Given the description of an element on the screen output the (x, y) to click on. 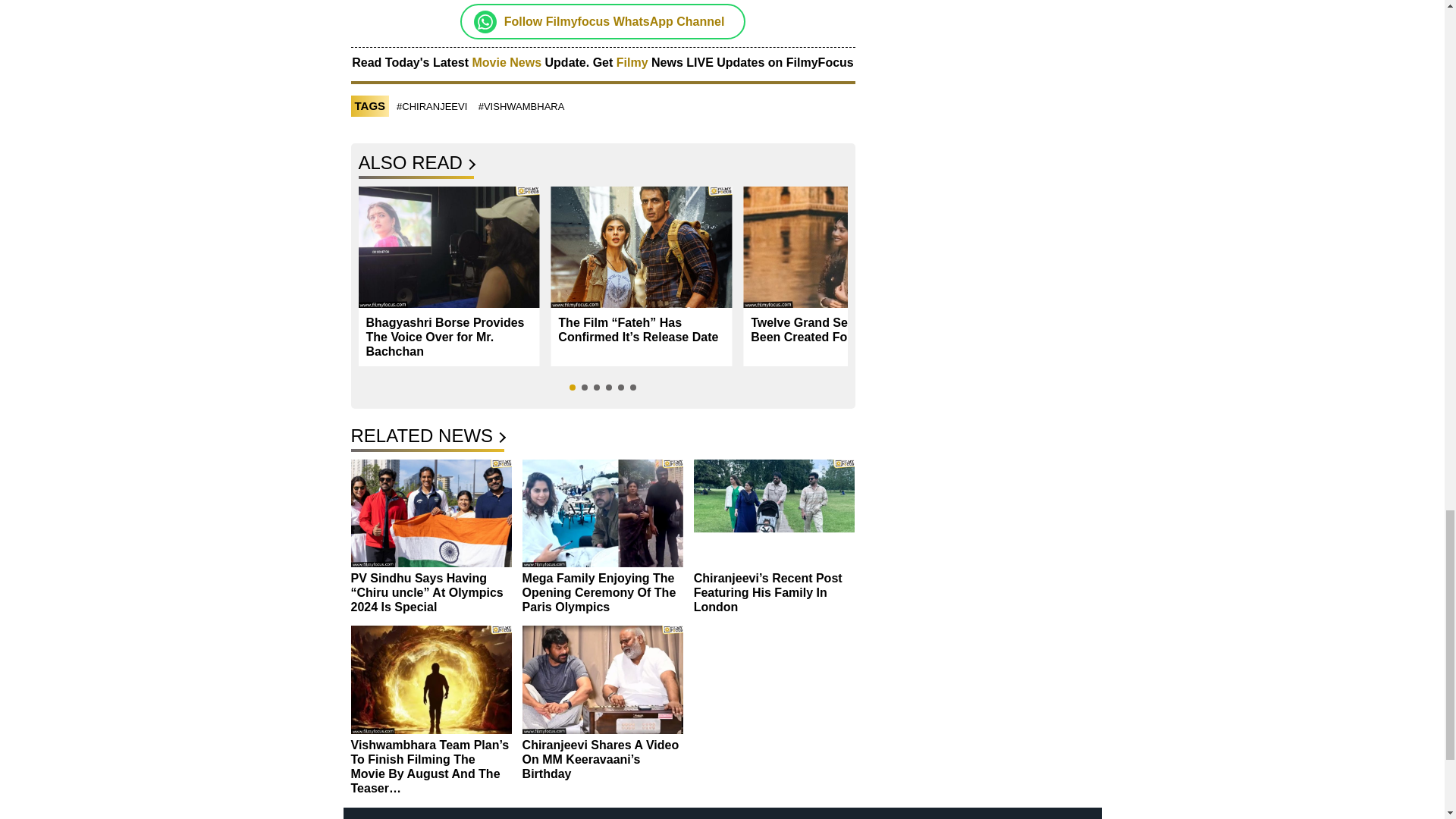
Filmy (632, 62)
Movie News (506, 62)
Follow Filmyfocus WhatsApp Channel (614, 21)
